Given the description of an element on the screen output the (x, y) to click on. 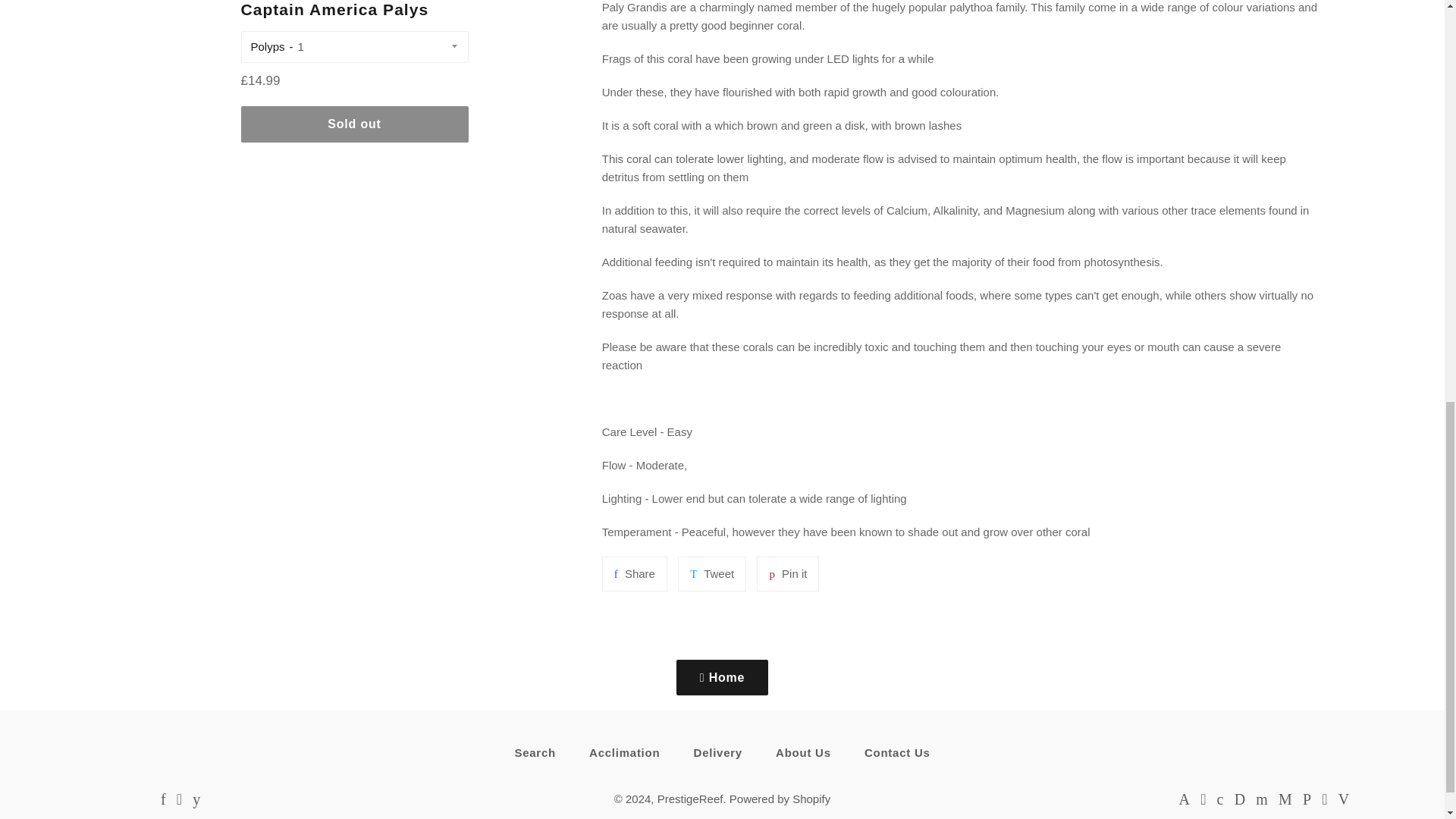
Share on Facebook (634, 573)
Pin on Pinterest (787, 573)
Tweet on Twitter (711, 573)
